Given the description of an element on the screen output the (x, y) to click on. 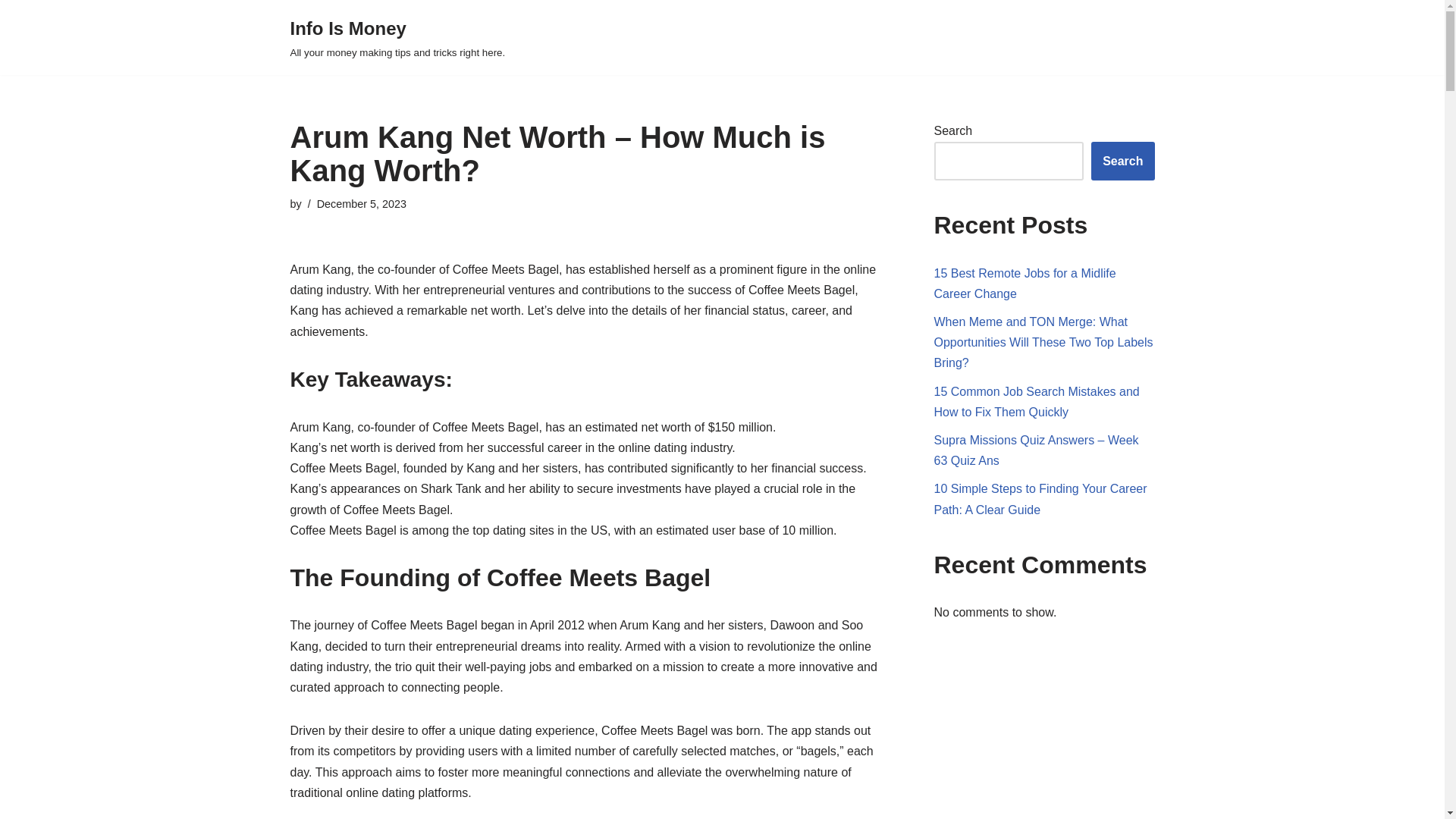
Info Is Money (397, 37)
Skip to content (11, 31)
15 Best Remote Jobs for a Midlife Career Change (1025, 283)
15 Common Job Search Mistakes and How to Fix Them Quickly (1037, 401)
Search (1122, 160)
10 Simple Steps to Finding Your Career Path: A Clear Guide (1040, 498)
